Given the description of an element on the screen output the (x, y) to click on. 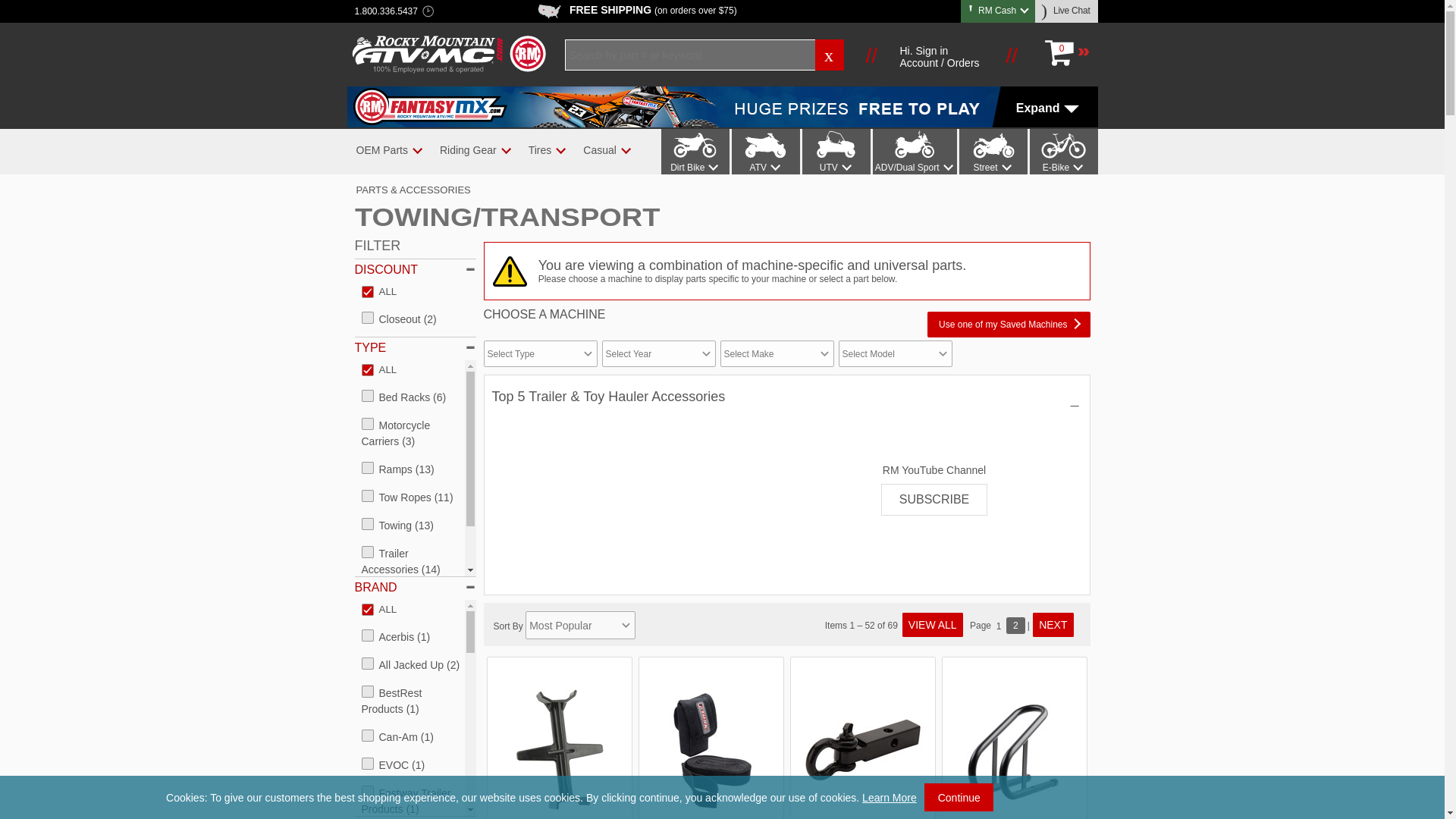
Select Model (895, 353)
Select Make (777, 353)
Live Chat (1067, 11)
0 (1066, 53)
1.800.336.5437 (386, 12)
RM Cash (997, 9)
OEM Parts (381, 150)
Learn More (889, 797)
Select Type (539, 353)
Continue (958, 796)
